Given the description of an element on the screen output the (x, y) to click on. 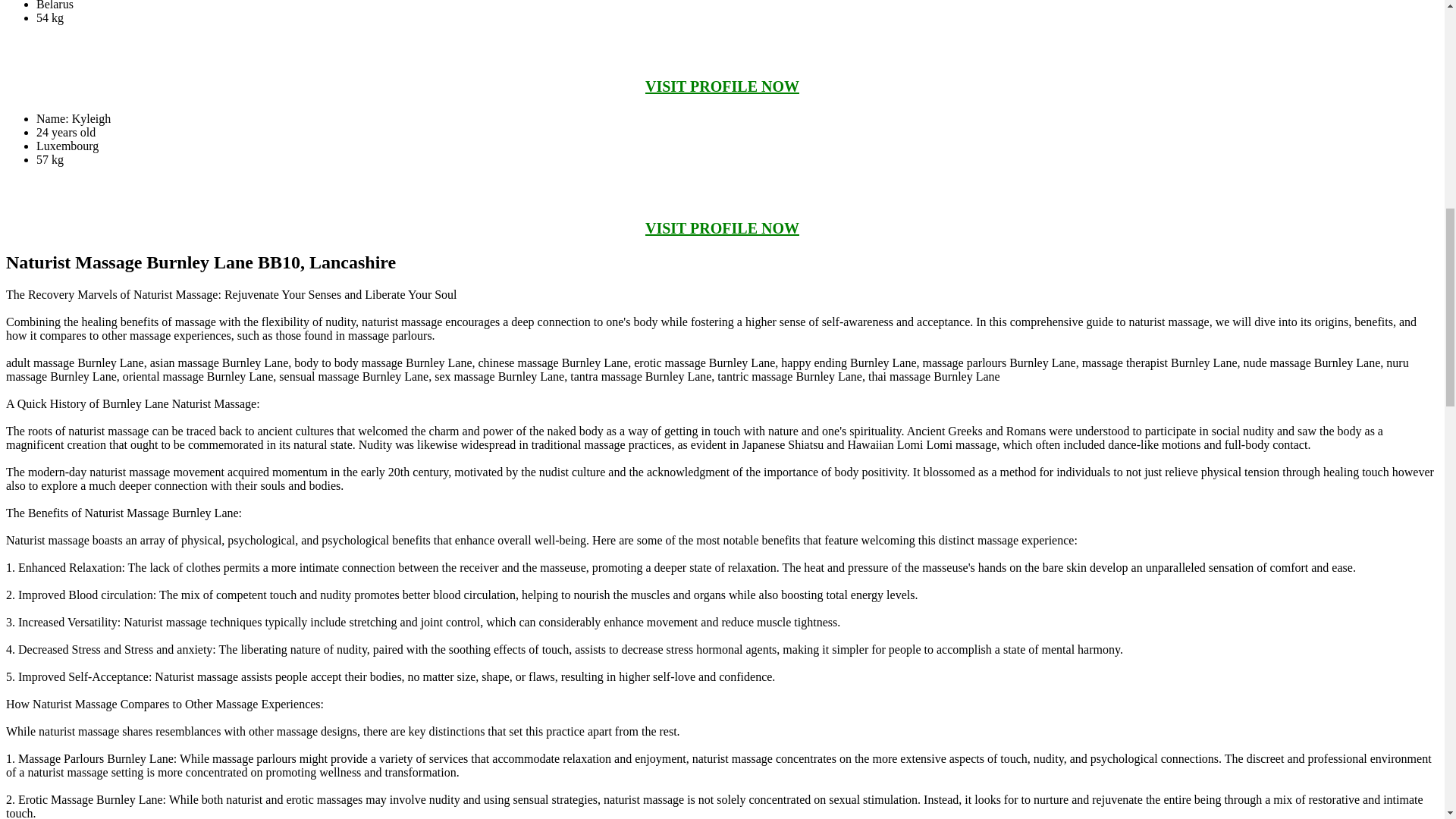
VISIT PROFILE NOW (722, 86)
VISIT PROFILE NOW (722, 228)
